Given the description of an element on the screen output the (x, y) to click on. 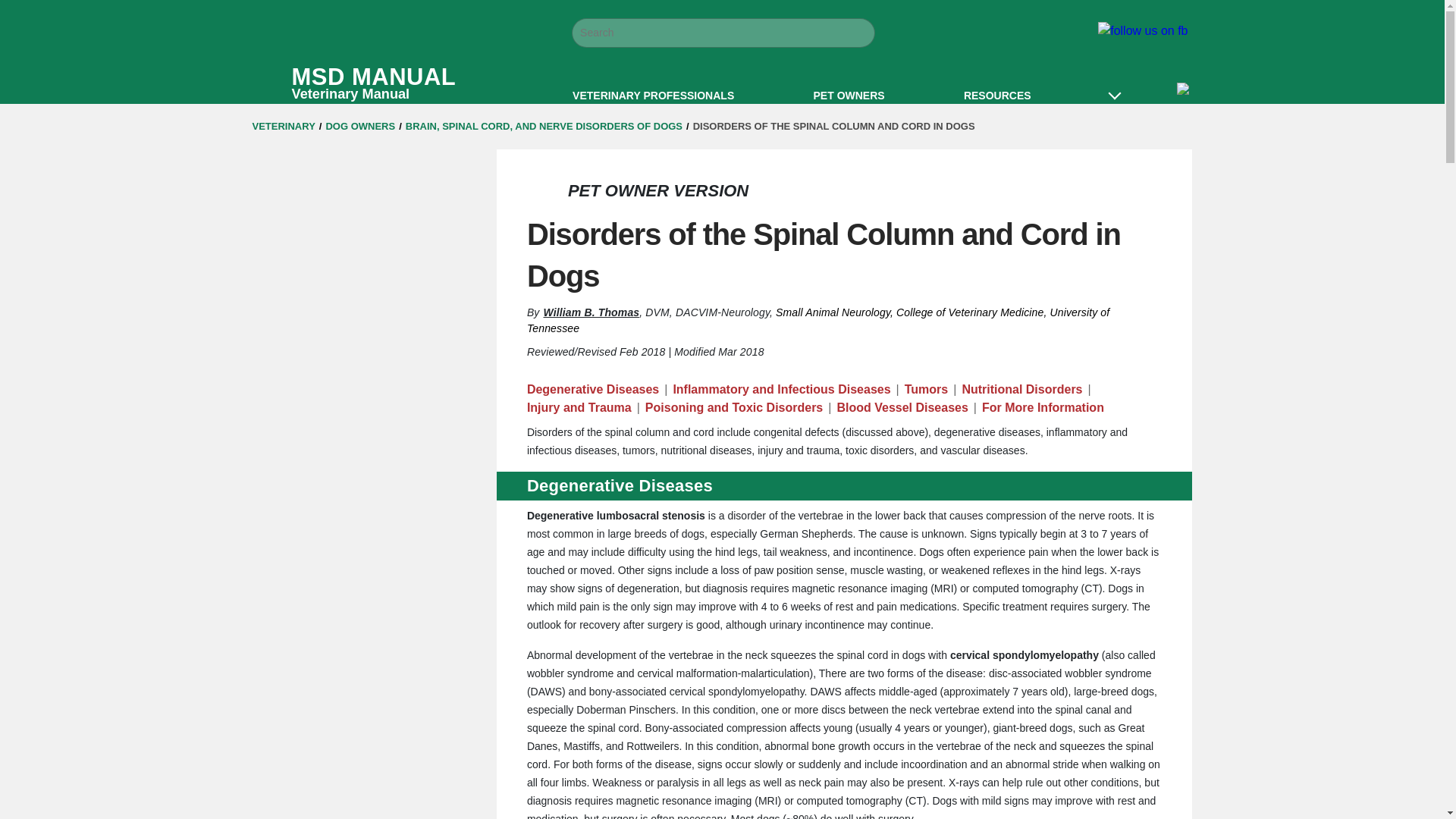
Tumors (925, 389)
DOG OWNERS (359, 125)
PET OWNER VERSION (657, 189)
View Our Facebook Page (1142, 29)
RESOURCES (997, 92)
PET OWNERS (849, 92)
William B. Thomas (591, 312)
DISORDERS OF THE SPINAL COLUMN AND CORD IN DOGS (834, 125)
Inflammatory and Infectious Diseases (780, 389)
For More Information (1042, 407)
Injury and Trauma (579, 407)
View Our Facebook Page (1142, 31)
VETERINARY (282, 125)
Blood Vessel Diseases (401, 83)
